Given the description of an element on the screen output the (x, y) to click on. 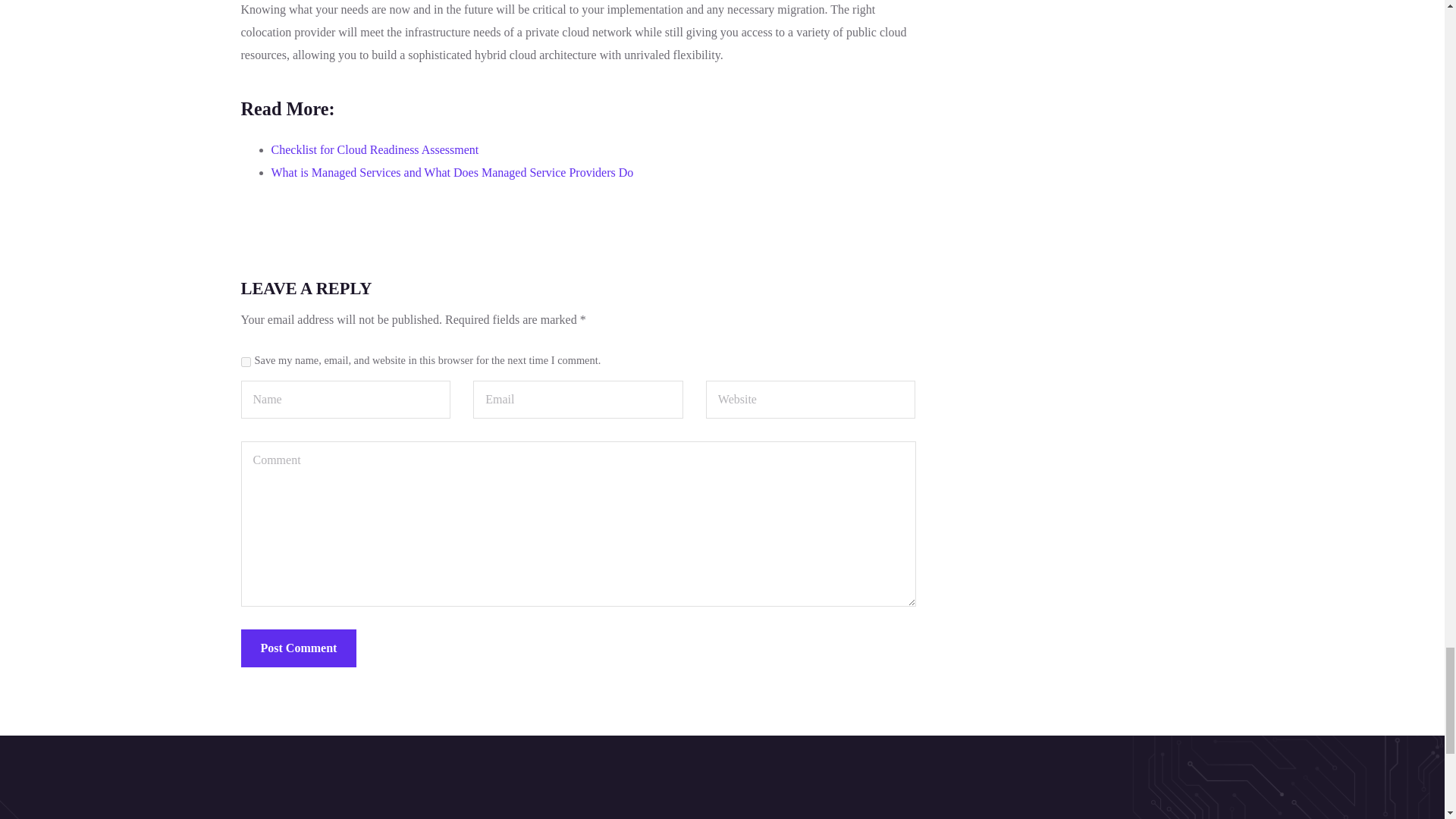
Post Comment (298, 648)
Checklist for Cloud Readiness Assessment (374, 149)
Post Comment (298, 648)
